Given the description of an element on the screen output the (x, y) to click on. 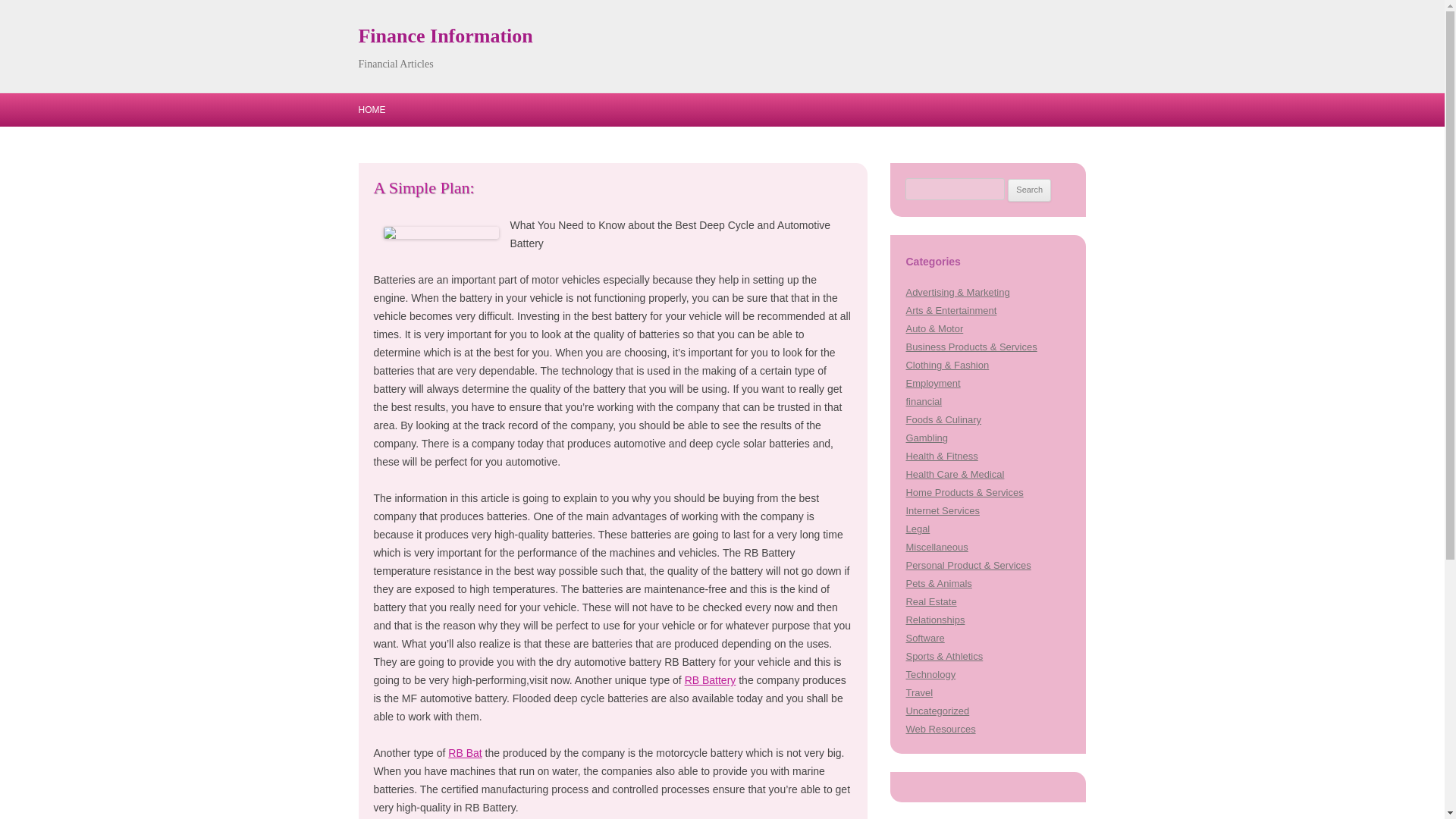
Web Resources (940, 728)
Gambling (926, 437)
Relationships (934, 619)
Finance Information (445, 36)
Internet Services (941, 510)
Miscellaneous (936, 546)
RB Bat (464, 752)
Technology (930, 674)
Legal (917, 528)
Finance Information (445, 36)
